Given the description of an element on the screen output the (x, y) to click on. 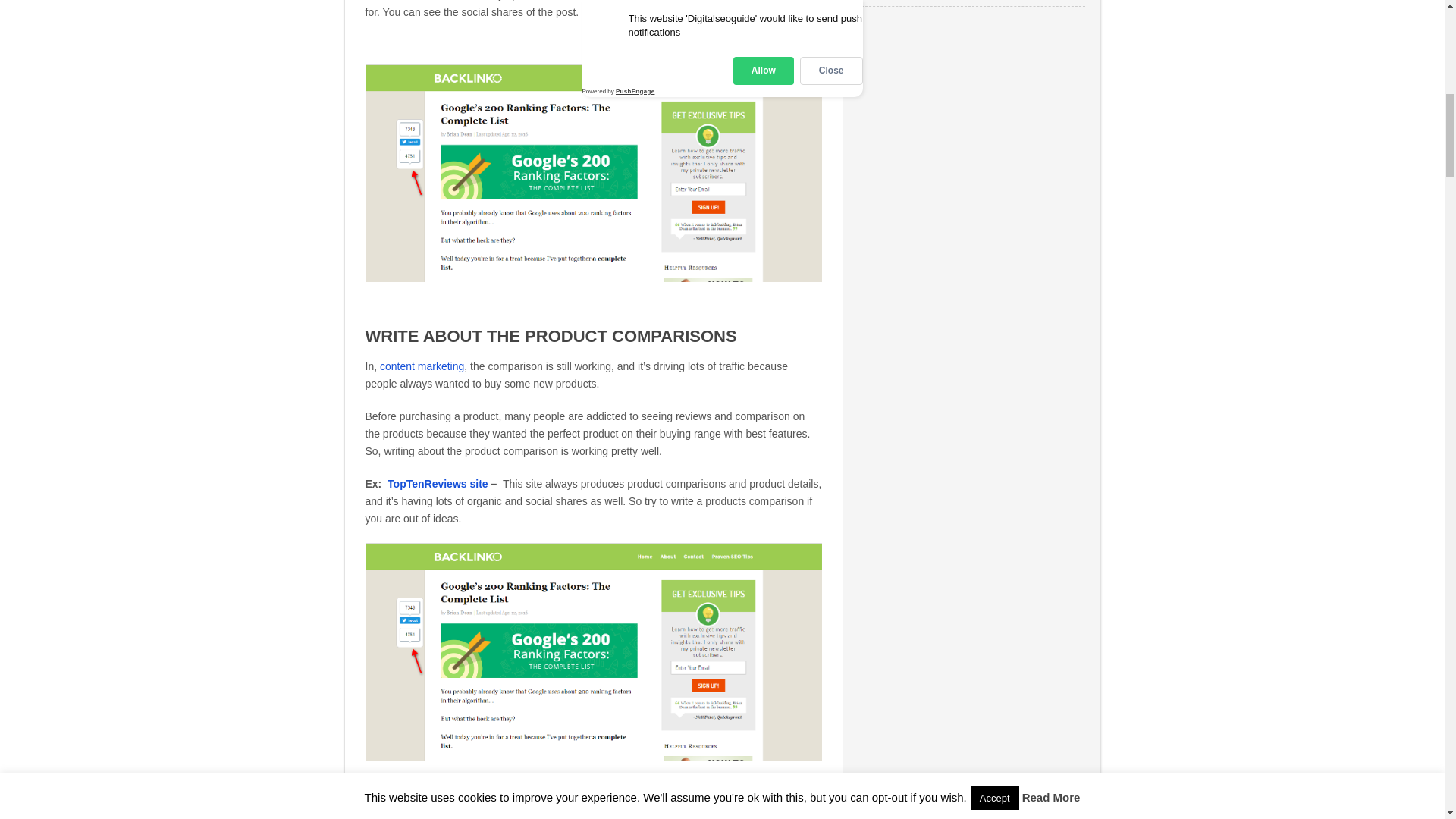
content marketing (422, 366)
TopTenReviews site (437, 483)
Brian Dean (415, 0)
